Given the description of an element on the screen output the (x, y) to click on. 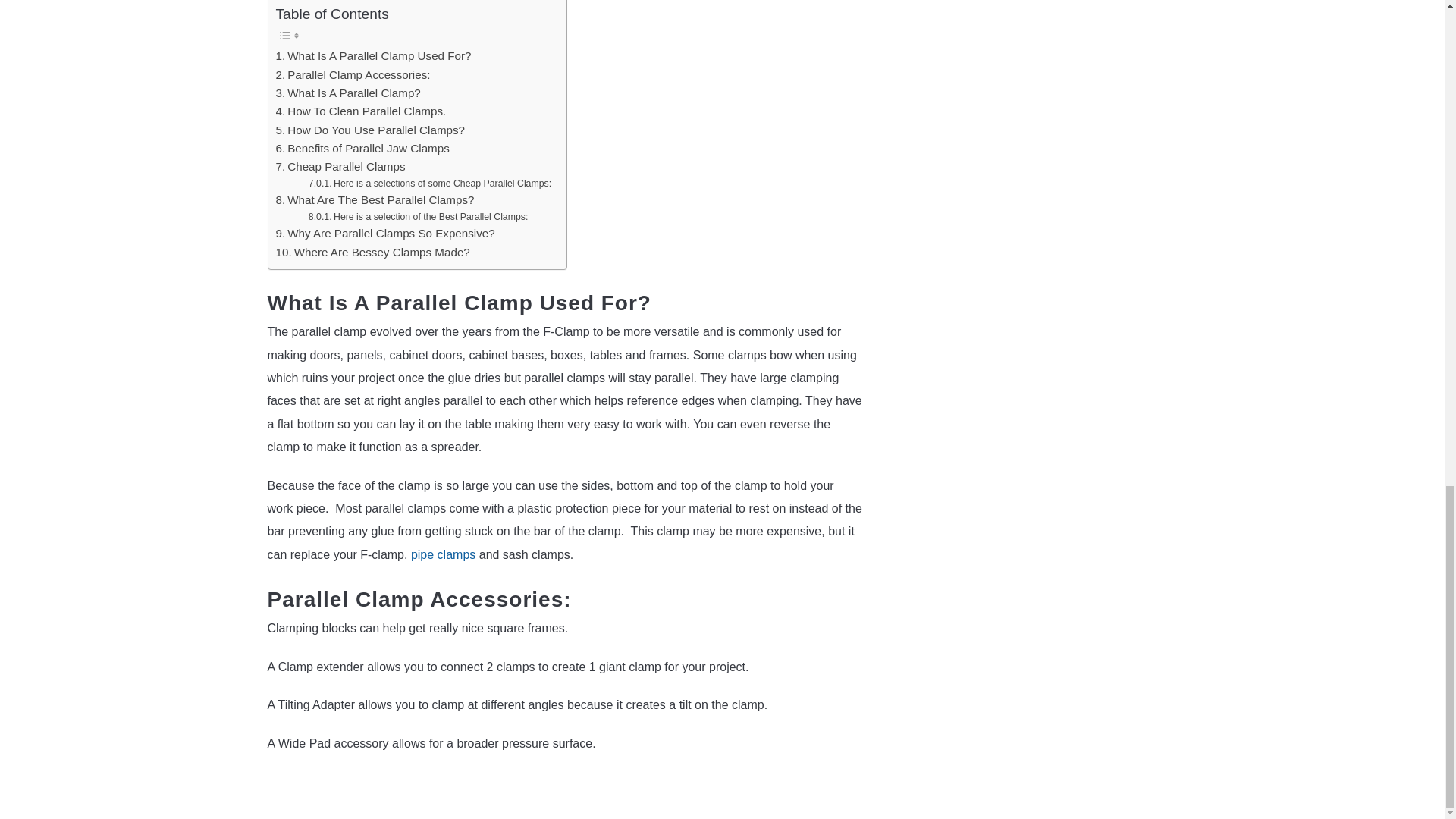
What Is A Parallel Clamp? (348, 93)
How Do You Use Parallel Clamps? (370, 130)
How To Clean Parallel Clamps. (361, 111)
How To Clean Parallel Clamps. (361, 111)
What Is A Parallel Clamp Used For? (373, 55)
What Are The Best Parallel Clamps? (375, 199)
Cheap Parallel Clamps (341, 167)
Where Are Bessey Clamps Made? (373, 252)
Parallel Clamp Accessories: (353, 75)
Cheap Parallel Clamps (341, 167)
What Is A Parallel Clamp? (348, 93)
pipe clamps (443, 554)
What Is A Parallel Clamp Used For? (373, 55)
Benefits of Parallel Jaw Clamps (362, 148)
Here is a selection of the Best Parallel Clamps: (418, 217)
